Given the description of an element on the screen output the (x, y) to click on. 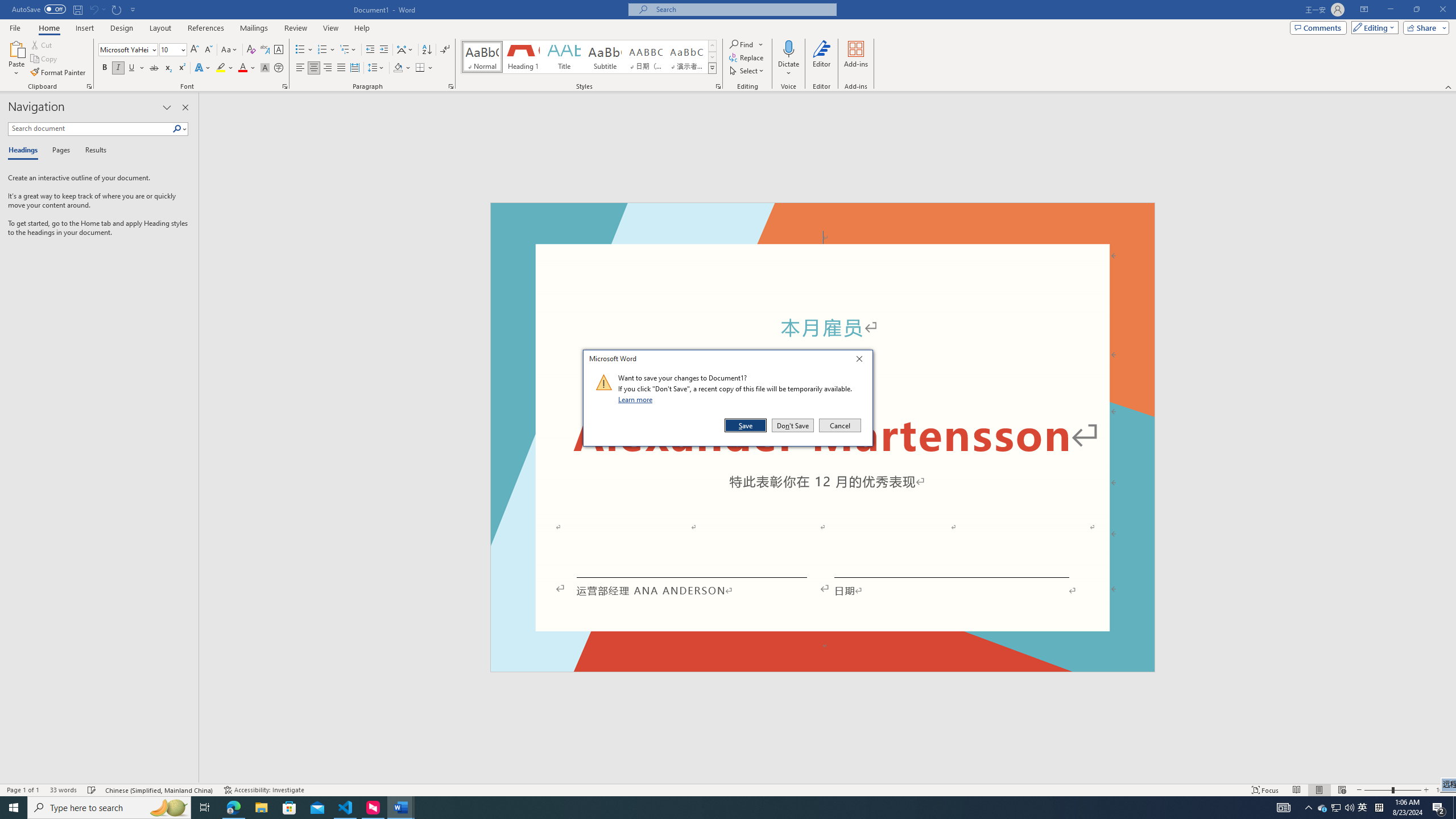
Superscript (180, 67)
Tray Input Indicator - Chinese (Simplified, China) (1378, 807)
Copy (45, 58)
Clear Formatting (250, 49)
Italic (118, 67)
Asian Layout (405, 49)
Zoom 104% (1443, 790)
Task View (204, 807)
Font Color Red (241, 67)
Sort... (426, 49)
Show desktop (1454, 807)
